Given the description of an element on the screen output the (x, y) to click on. 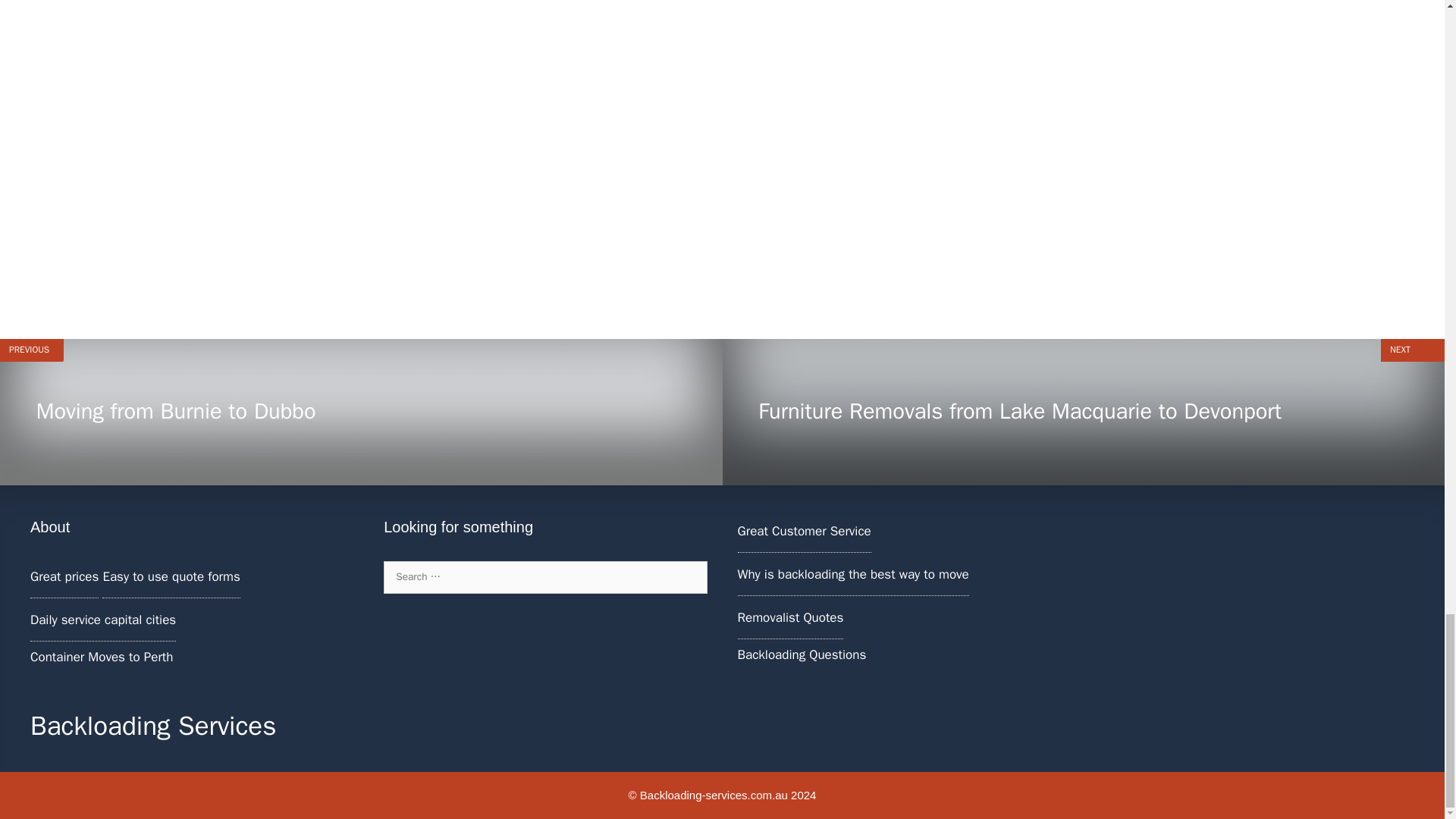
Removalist Quotes (789, 617)
Backloading Questions (801, 654)
Search for: (361, 412)
Why is backloading the best way to move (545, 576)
Great Customer Service (852, 574)
